Given the description of an element on the screen output the (x, y) to click on. 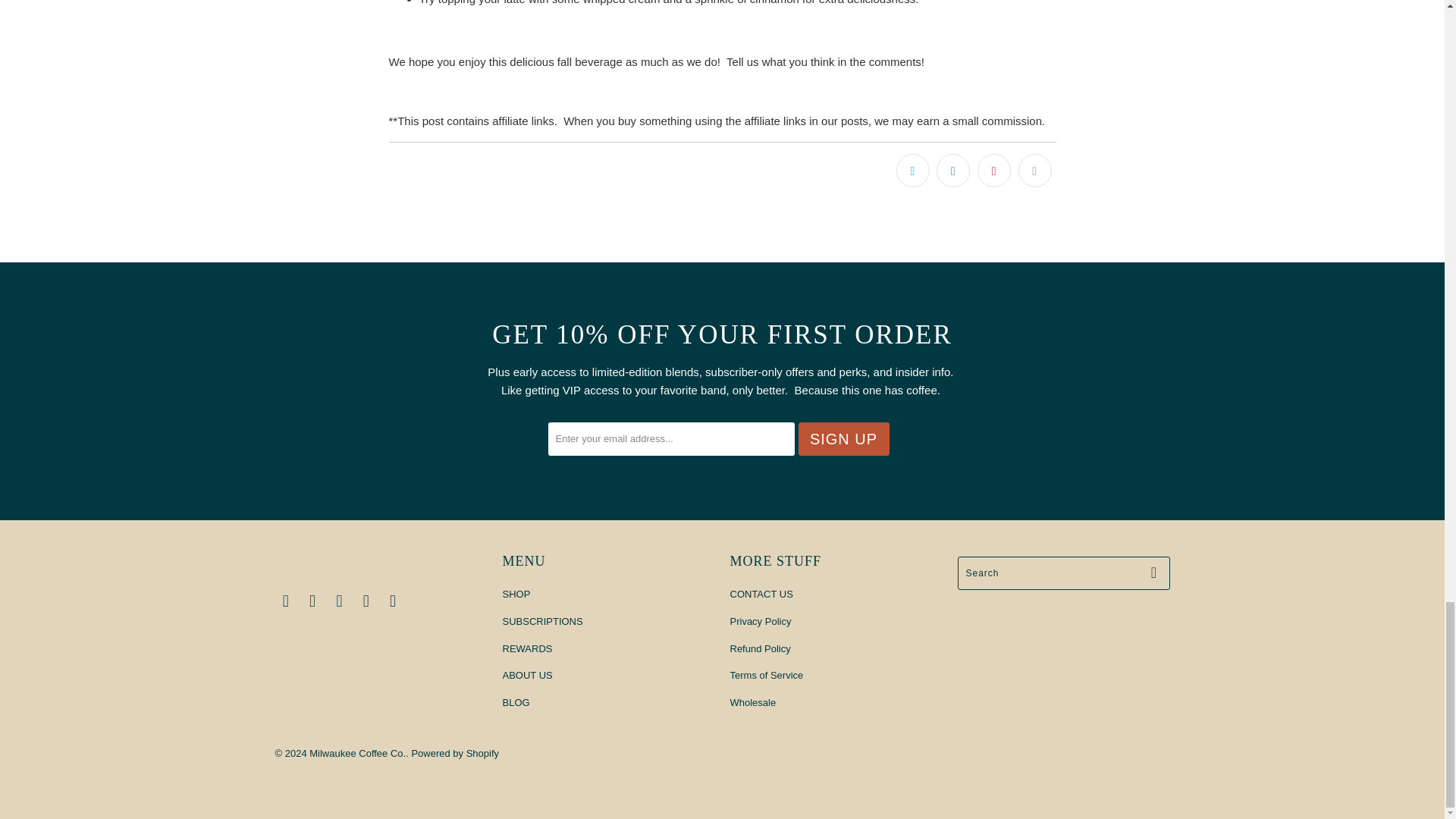
Share this on Pinterest (993, 170)
Sign Up (842, 438)
Share this on Twitter (913, 170)
Email this to a friend (1034, 170)
Share this on Facebook (952, 170)
